Given the description of an element on the screen output the (x, y) to click on. 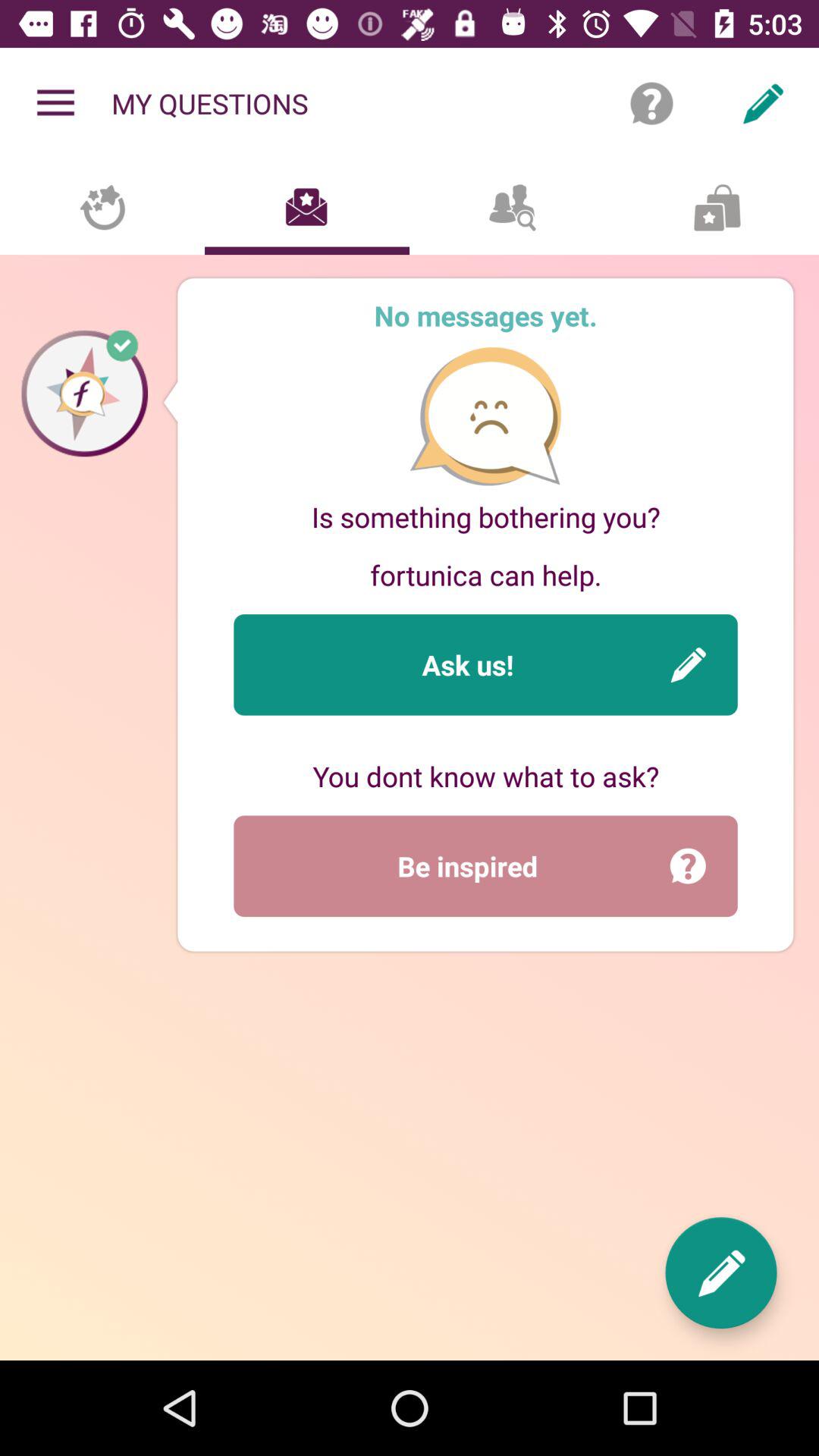
turn off the item next to my questions (55, 103)
